Given the description of an element on the screen output the (x, y) to click on. 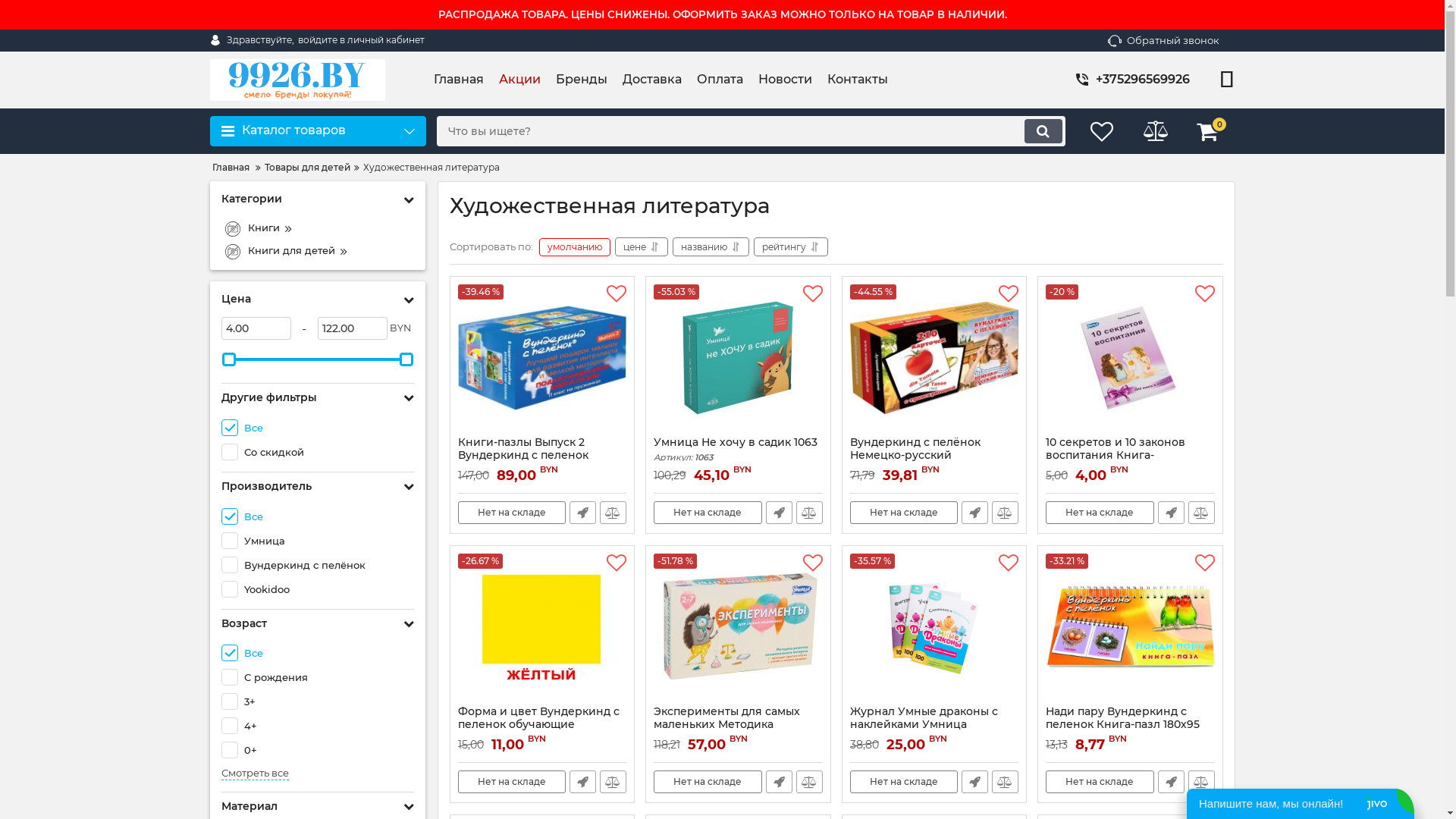
Yookidoo Element type: text (317, 588)
-44.55 % Element type: text (933, 360)
4+ Element type: text (317, 725)
0+ Element type: text (317, 749)
-55.03 % Element type: text (737, 360)
-20 % Element type: text (1129, 360)
-26.67 % Element type: text (542, 629)
+375296569926 Element type: text (1149, 79)
-33.21 % Element type: text (1129, 629)
-51.78 % Element type: text (737, 629)
3+ Element type: text (317, 701)
-39.46 % Element type: text (542, 360)
-35.57 % Element type: text (933, 629)
